Given the description of an element on the screen output the (x, y) to click on. 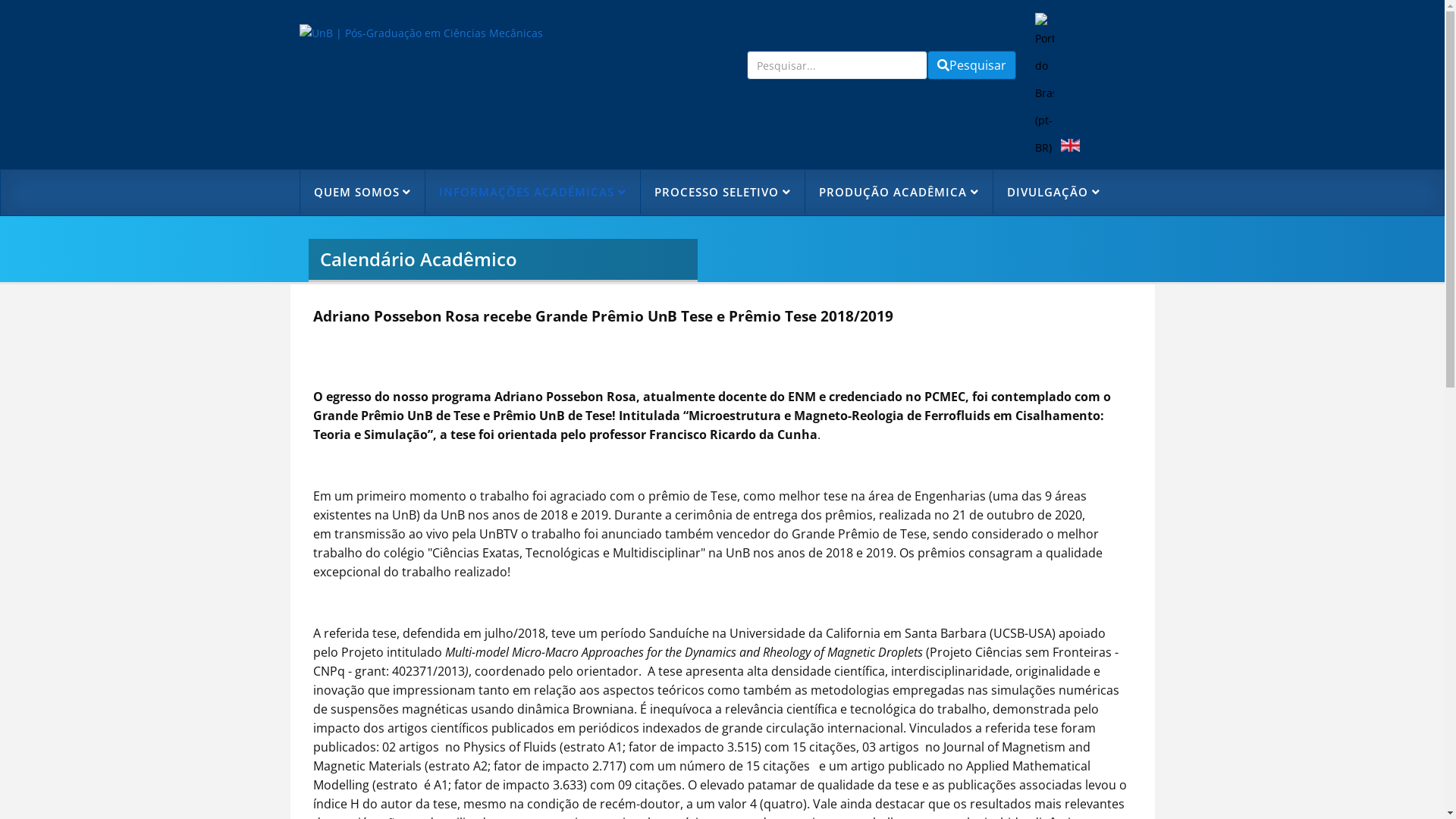
English (United Kingdom) Element type: hover (1069, 144)
Pesquisar Element type: text (970, 64)
QUEM SOMOS Element type: text (361, 191)
PROCESSO SELETIVO Element type: text (722, 191)
